Given the description of an element on the screen output the (x, y) to click on. 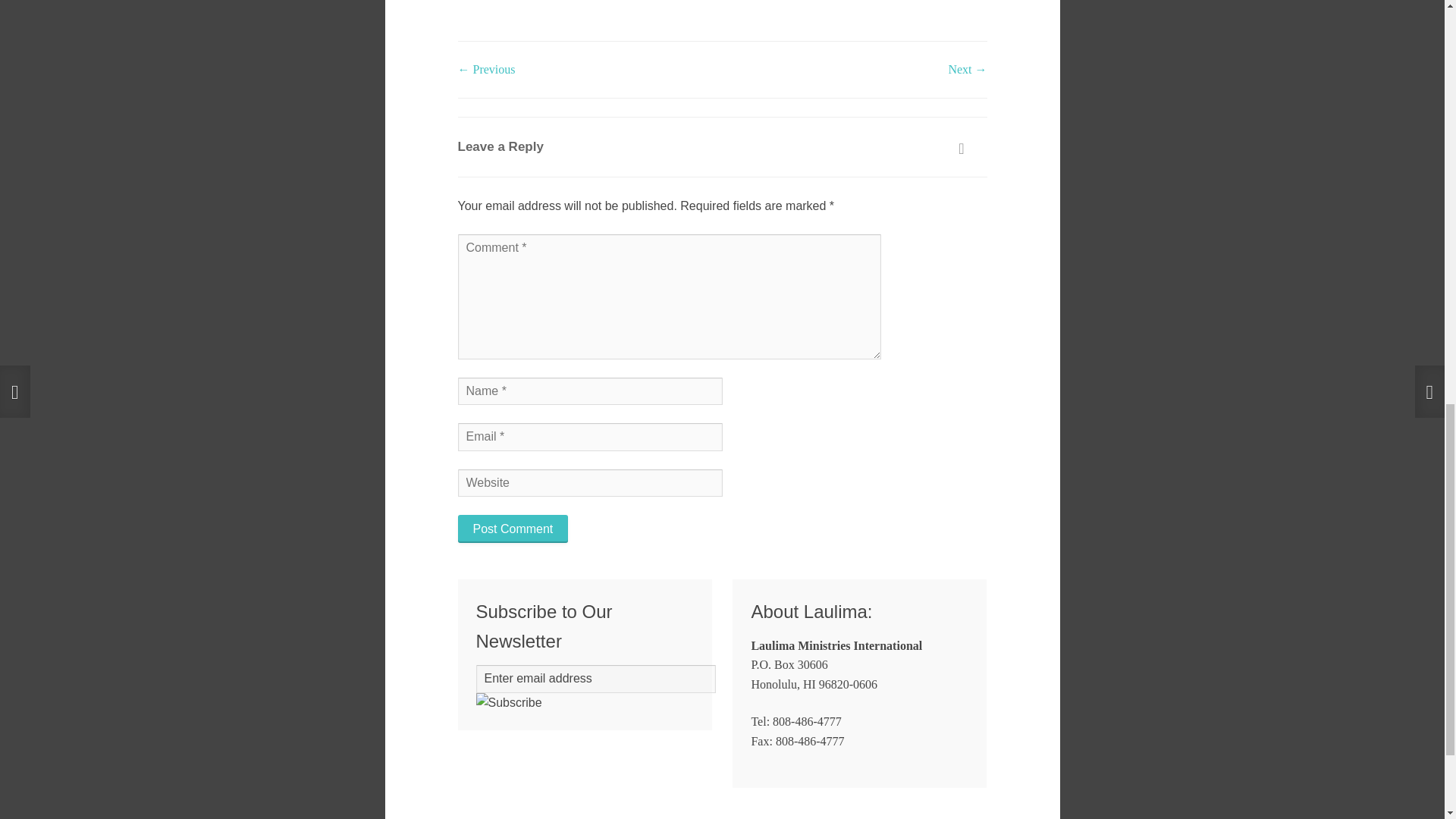
Post Comment (513, 528)
Enter email address (596, 678)
Subscribe to Laulima Ministries International''s Newsletter (508, 702)
Post Comment (513, 528)
Subscribe (508, 702)
Announcements (510, 0)
Leave a comment (630, 0)
